Given the description of an element on the screen output the (x, y) to click on. 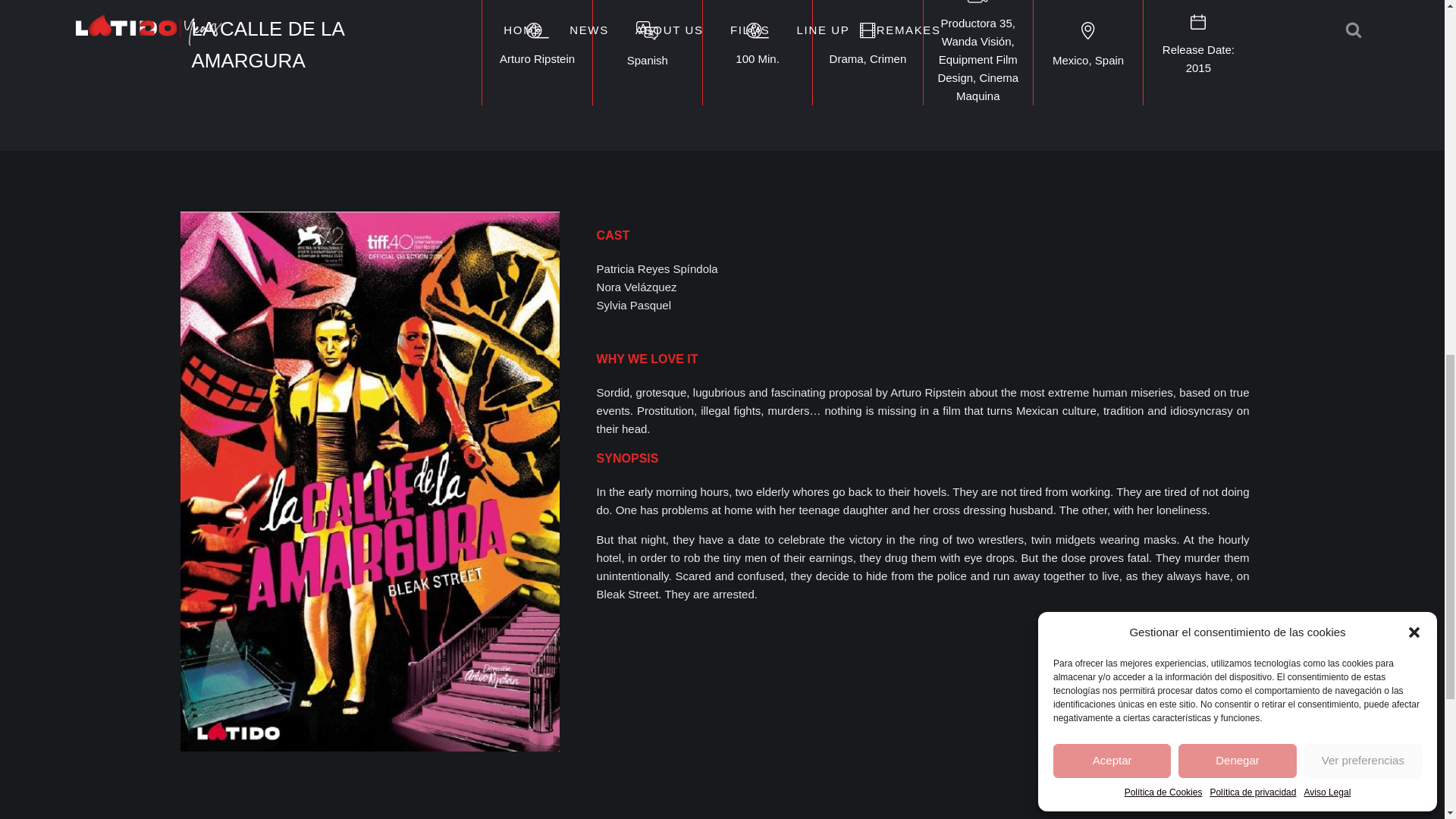
Productora - Latido Films (978, 1)
Director - Latido Films (536, 30)
Duracion- Latido Films (756, 30)
Calendario - Latido Films (1198, 20)
Lenguaje- Latido Films (647, 30)
